Given the description of an element on the screen output the (x, y) to click on. 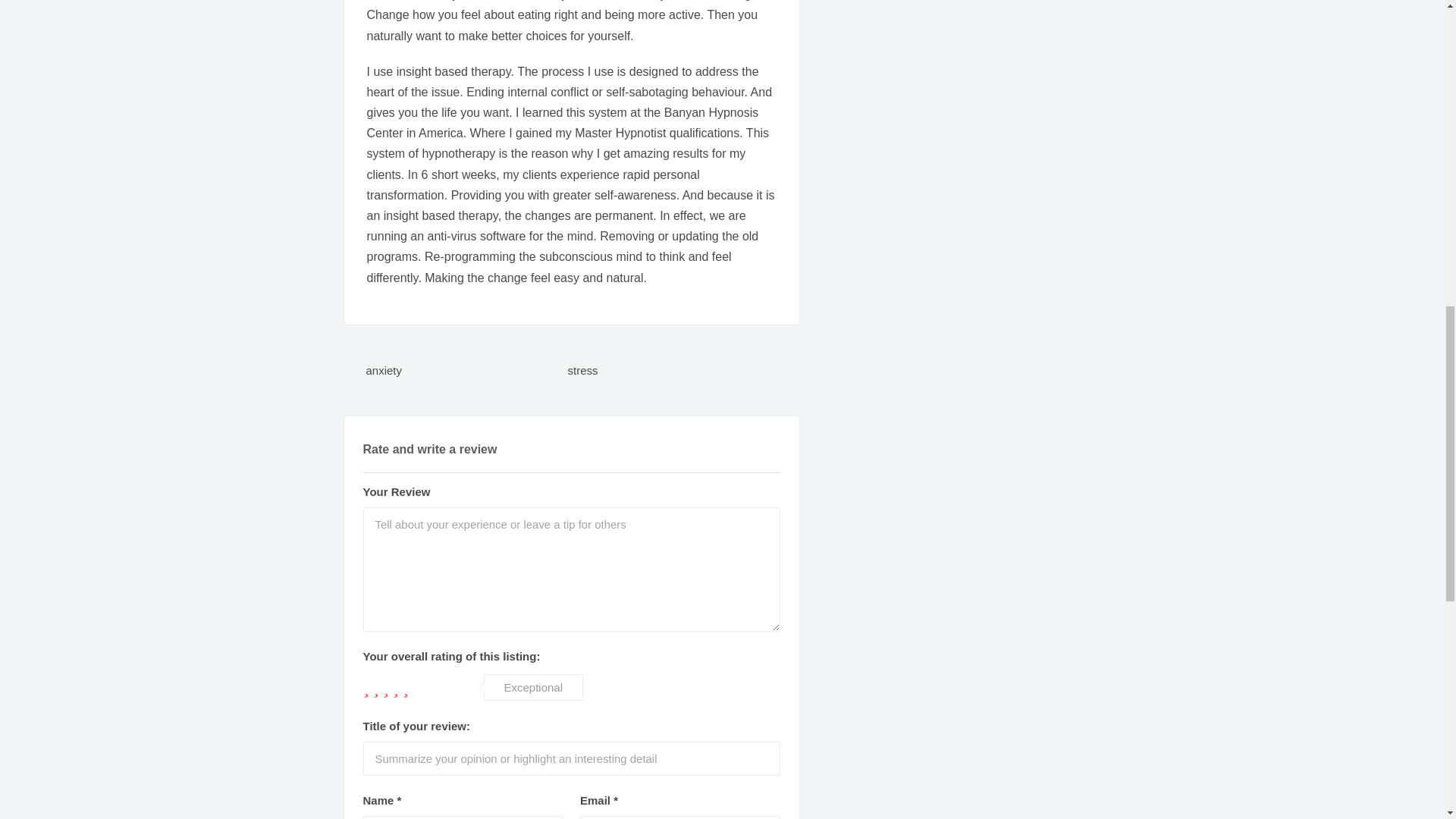
anxiety (466, 369)
stress (668, 369)
